Given the description of an element on the screen output the (x, y) to click on. 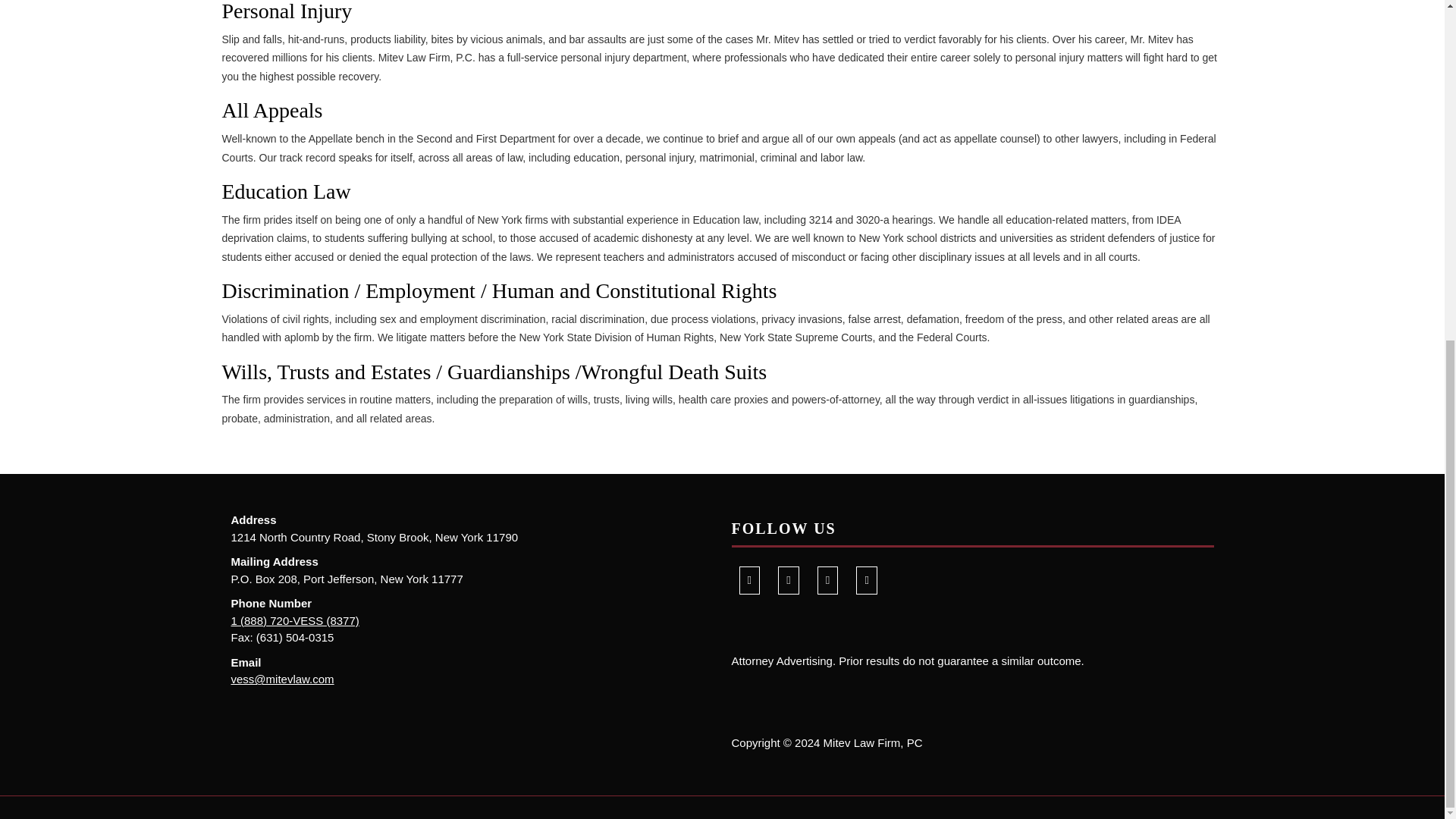
Linkedin (827, 579)
Facebook (748, 579)
Instagram (865, 579)
Twitter (788, 579)
